Given the description of an element on the screen output the (x, y) to click on. 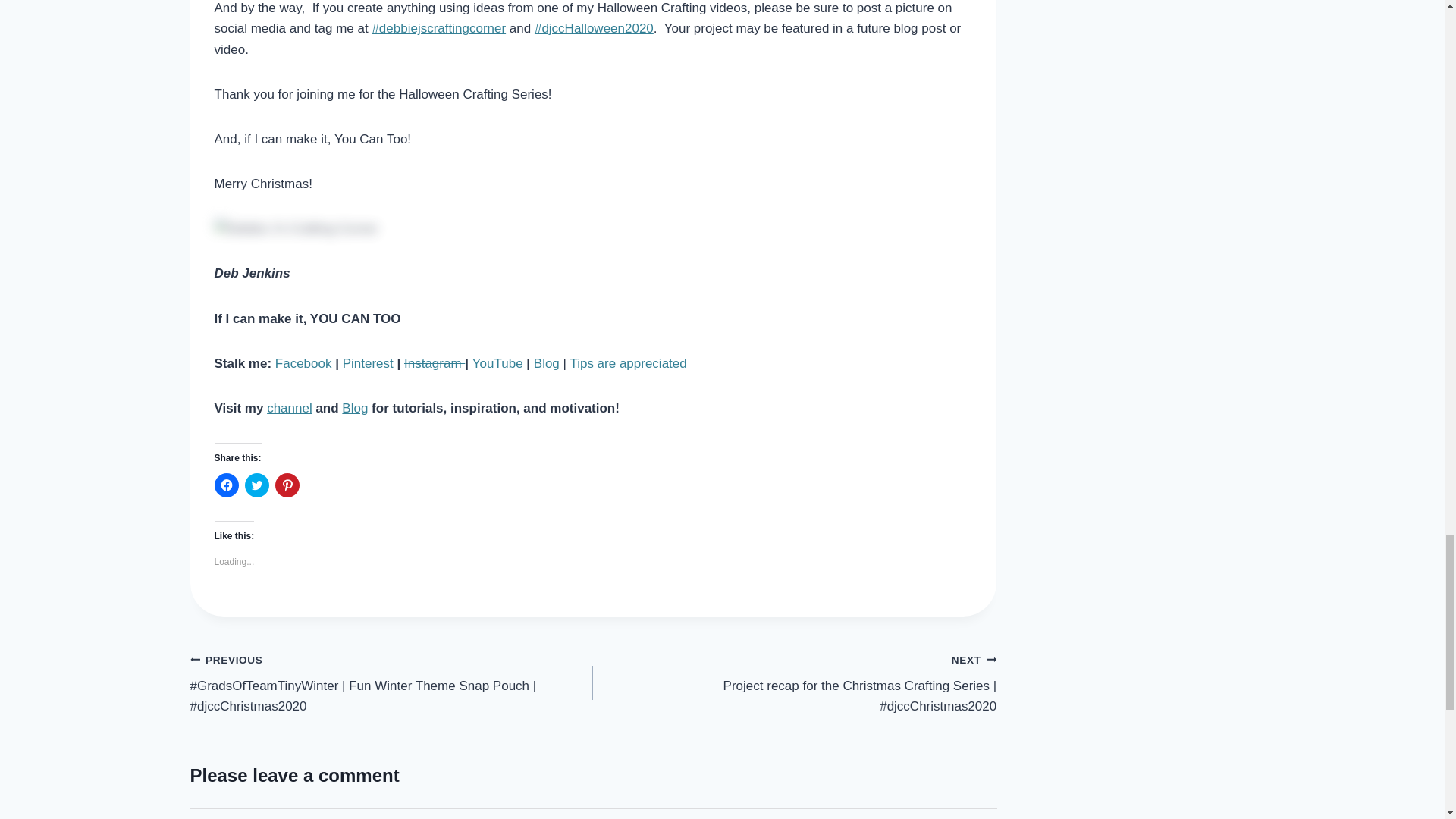
Click to share on Facebook (226, 485)
Pinterest (369, 363)
Blog (355, 408)
Tips are appreciated (627, 363)
Blog (546, 363)
channel (289, 408)
Click to share on Twitter (255, 485)
YouTube (496, 363)
Instagram (434, 363)
Comment Form (592, 813)
Facebook (304, 363)
Click to share on Pinterest (286, 485)
